Given the description of an element on the screen output the (x, y) to click on. 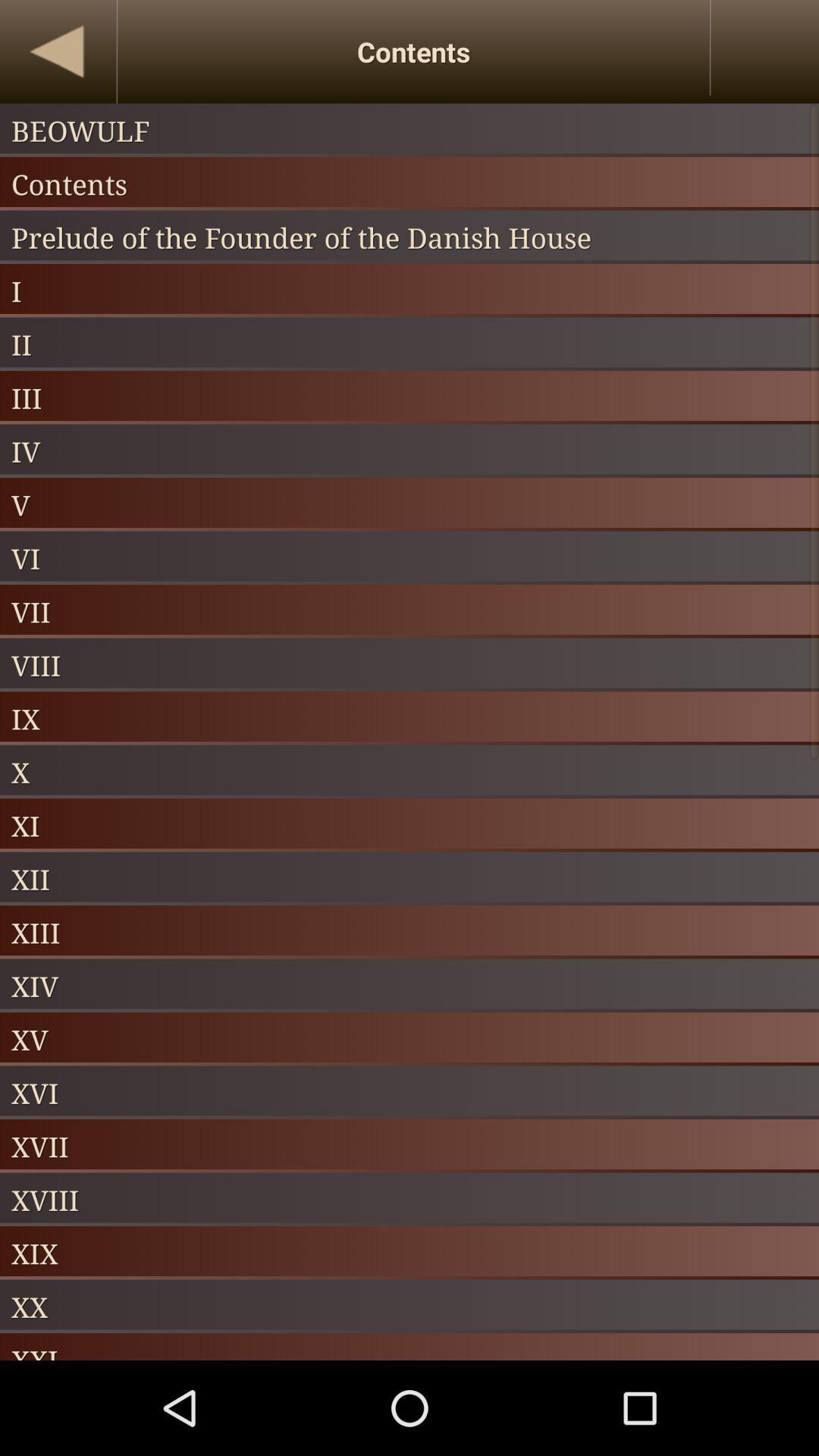
turn off the icon above the x item (409, 718)
